Given the description of an element on the screen output the (x, y) to click on. 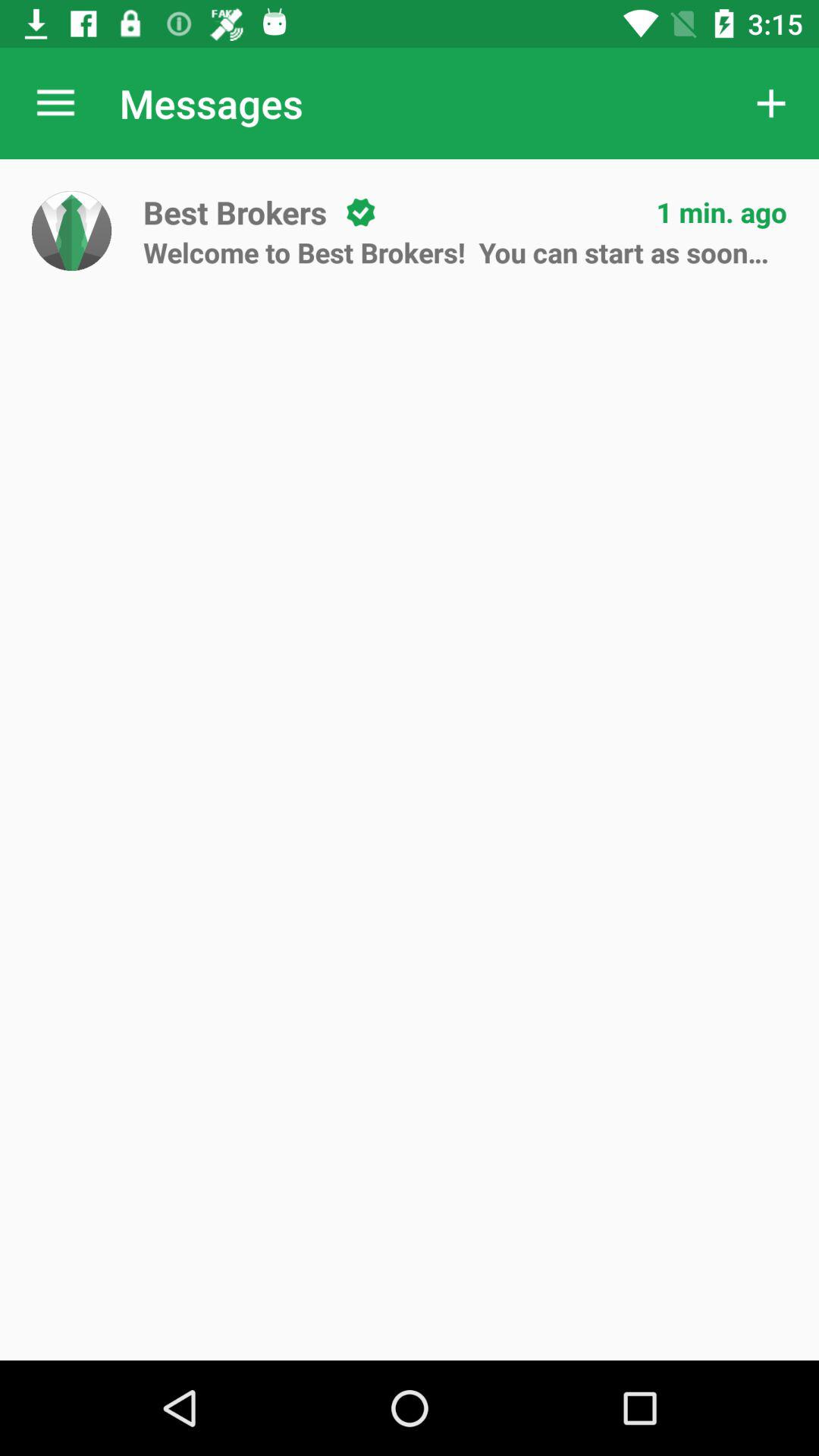
launch the icon above the 1 min. ago icon (771, 103)
